Given the description of an element on the screen output the (x, y) to click on. 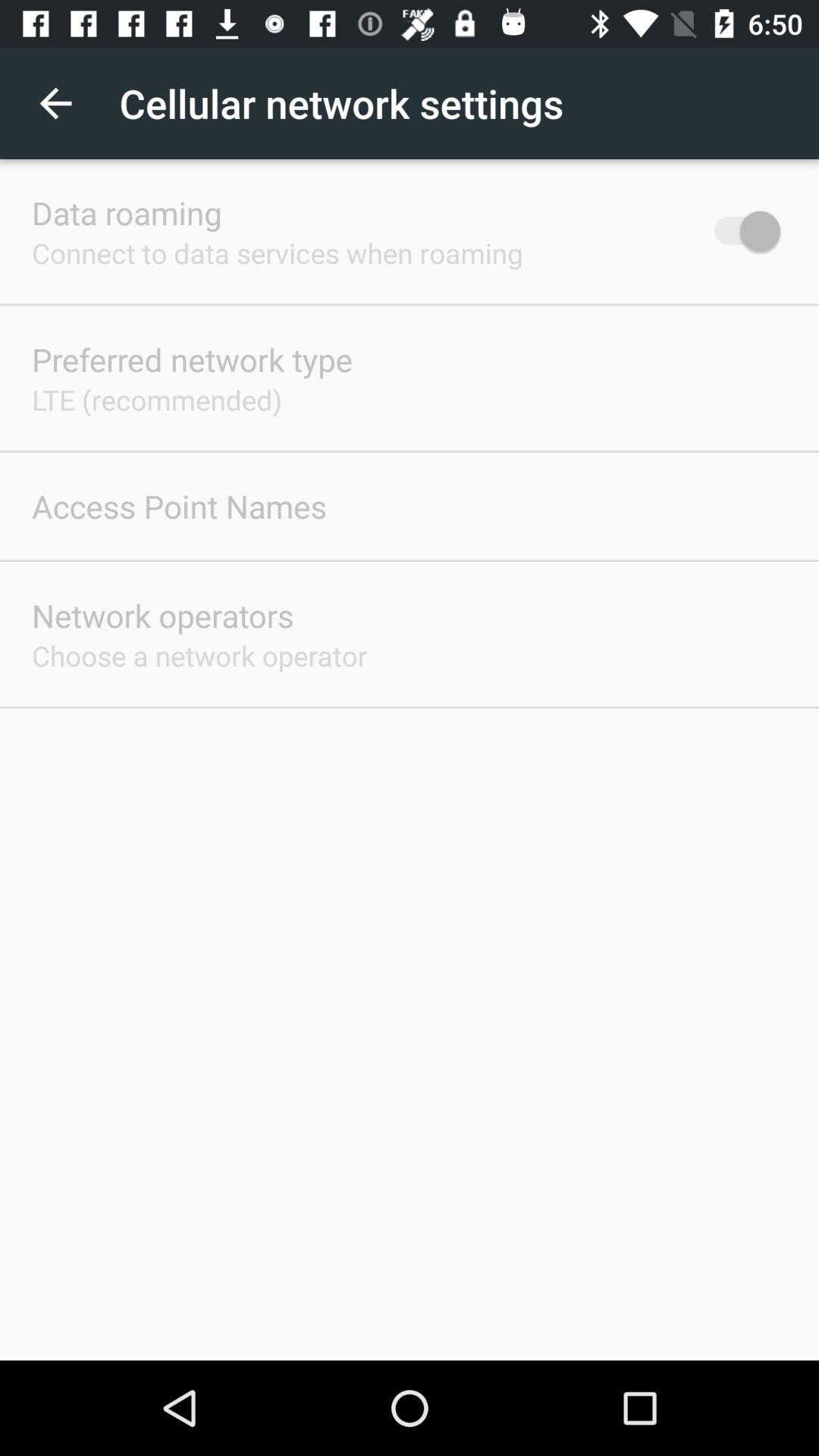
select the item below the preferred network type app (156, 399)
